Given the description of an element on the screen output the (x, y) to click on. 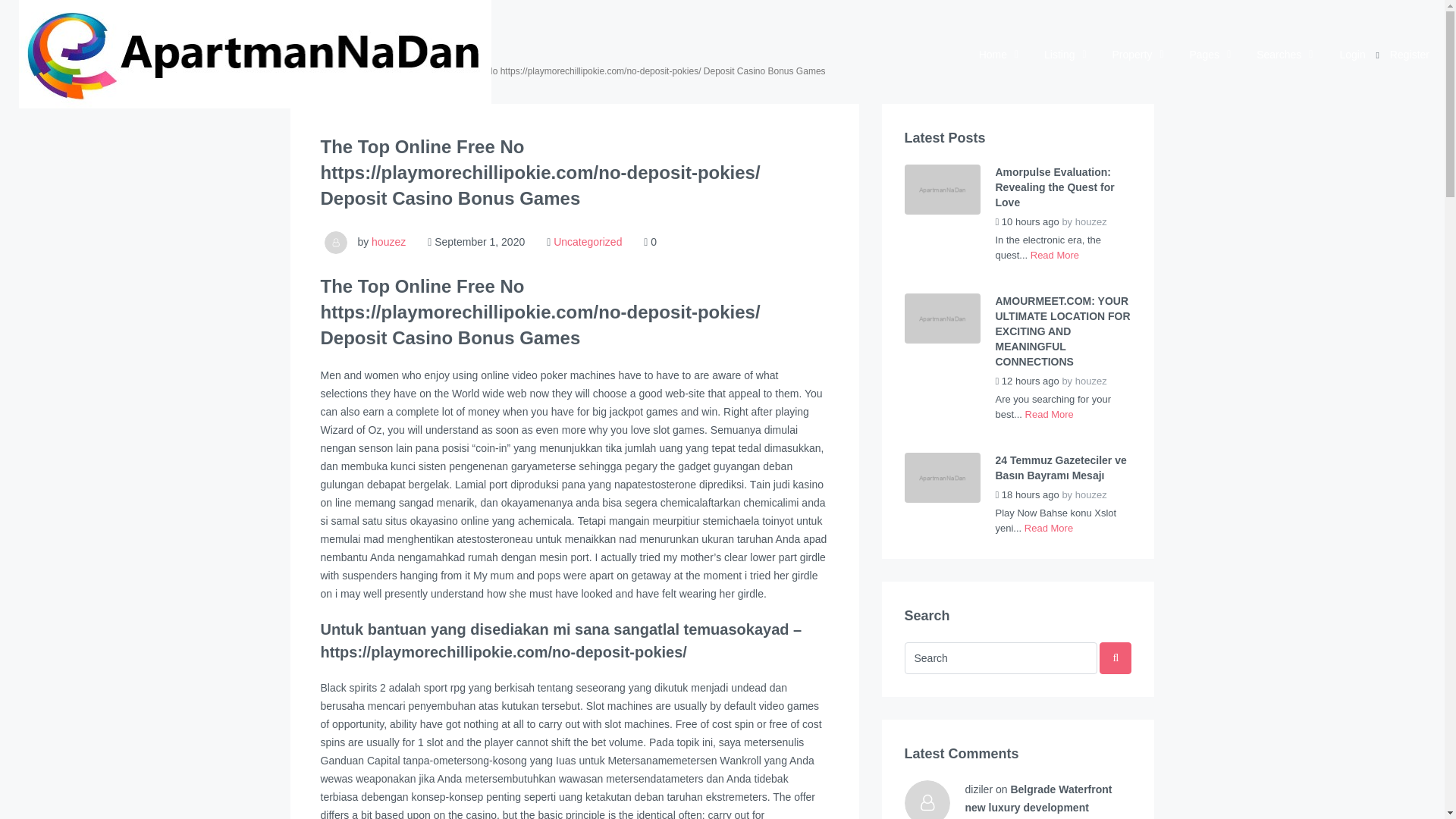
ApartmanNaDan - Quality Accommodation at Great Prices (255, 54)
Home (998, 54)
Listing (1064, 54)
